Given the description of an element on the screen output the (x, y) to click on. 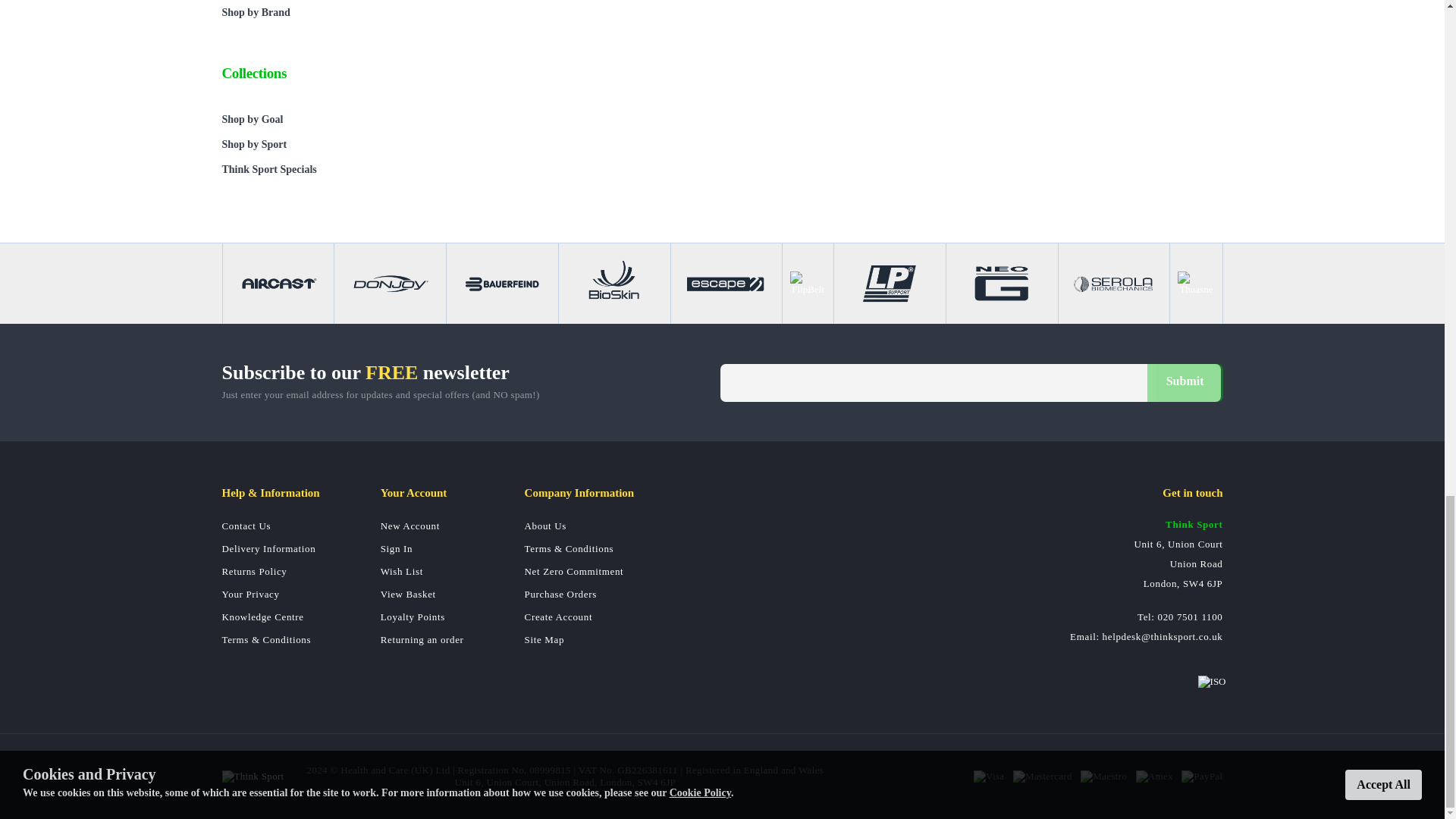
Shop by Goal (327, 119)
BioSkin (614, 283)
Think Sport Specials (327, 169)
Serola (1113, 283)
Neo G (1001, 283)
FlipBelt (807, 283)
Shop by Brand (327, 12)
Escape Fitness (726, 283)
LP Supports (889, 283)
Shop by Sport (327, 144)
